Given the description of an element on the screen output the (x, y) to click on. 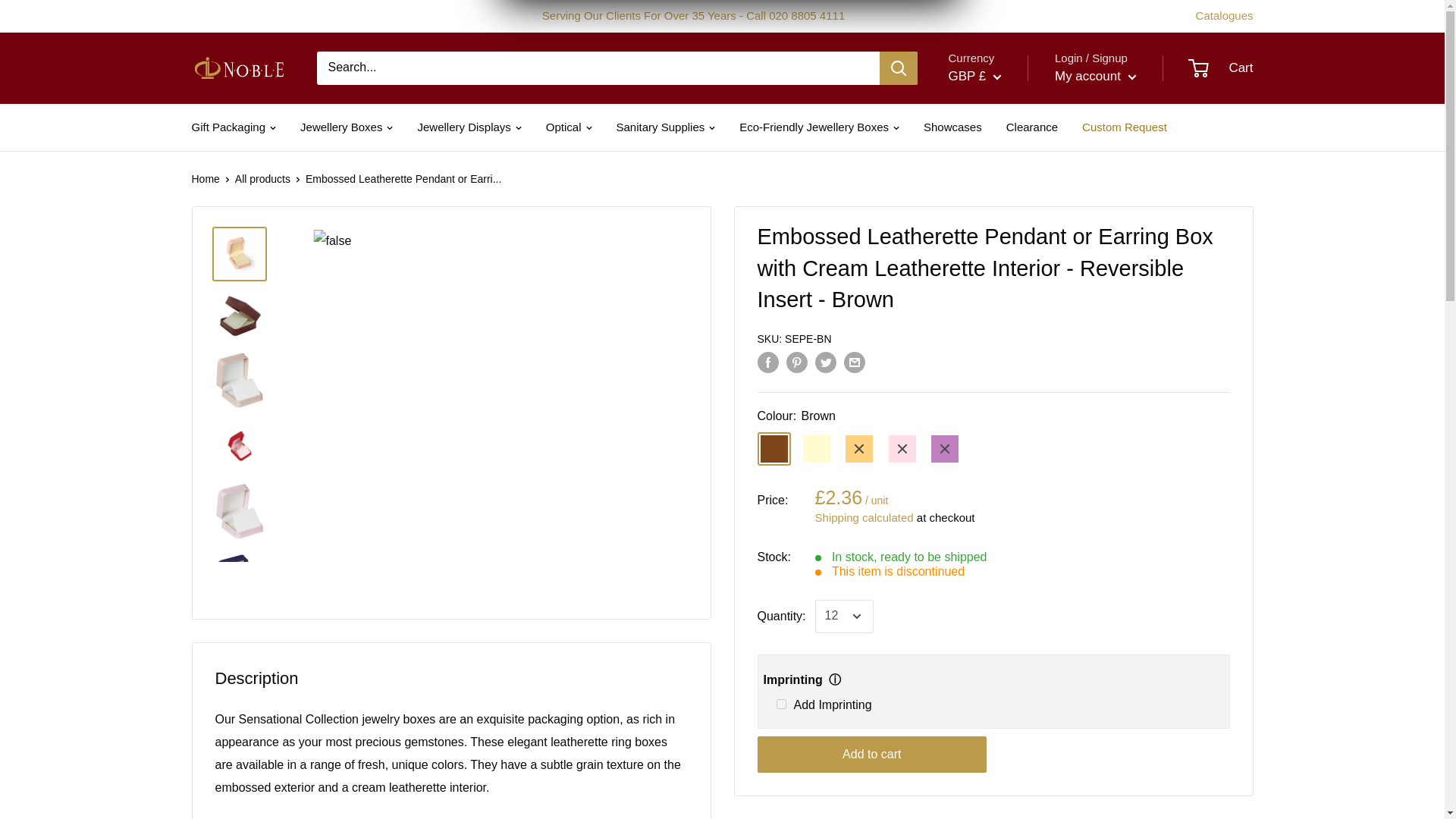
Brown (773, 448)
Pink (901, 448)
Add Imprinting (781, 704)
Orange (858, 448)
Purple (944, 448)
Cream (816, 448)
Catalogues (1224, 15)
